Given the description of an element on the screen output the (x, y) to click on. 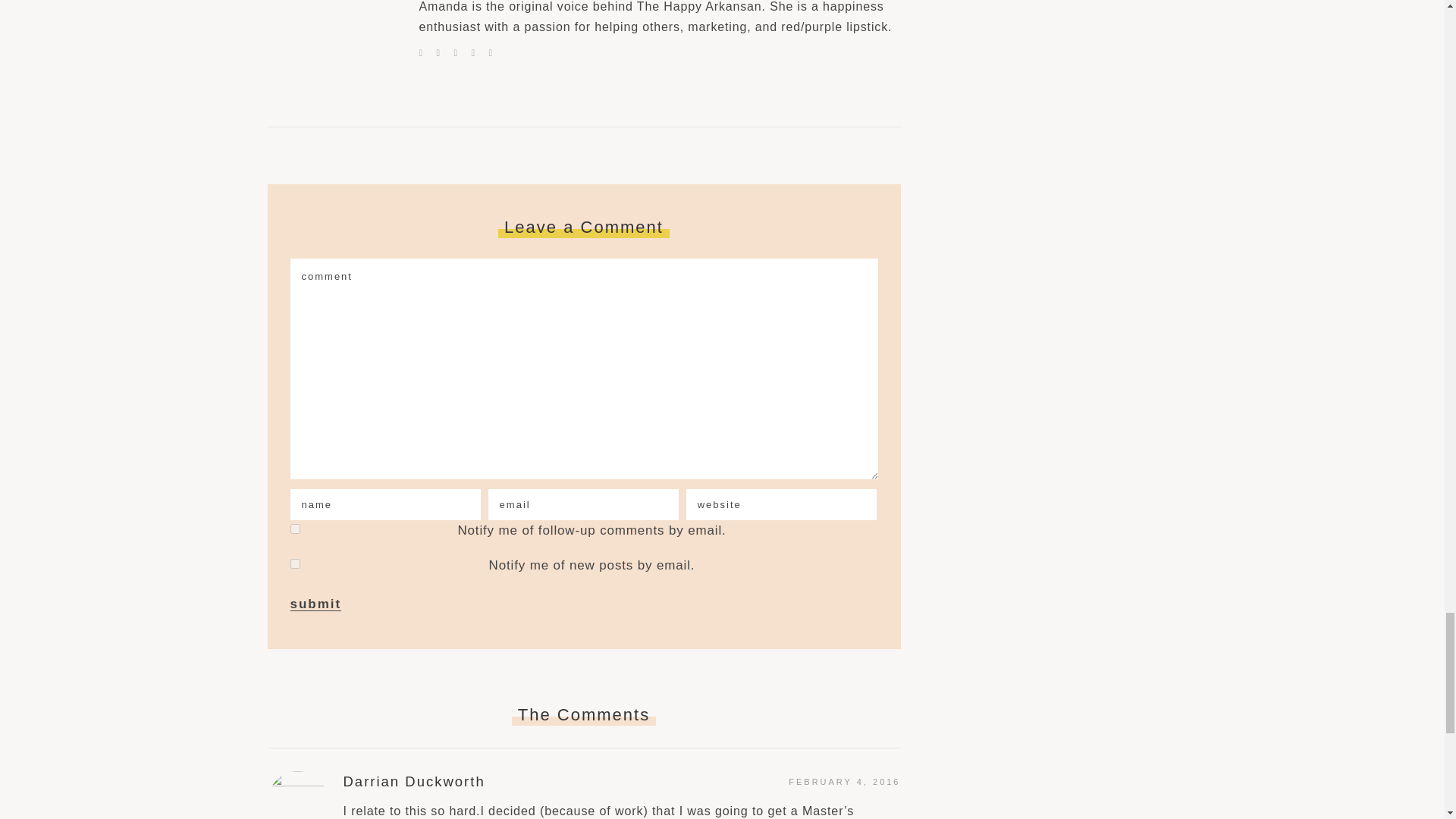
Submit (314, 603)
subscribe (294, 563)
Darrian Duckworth (413, 781)
Submit (314, 603)
subscribe (294, 528)
